Given the description of an element on the screen output the (x, y) to click on. 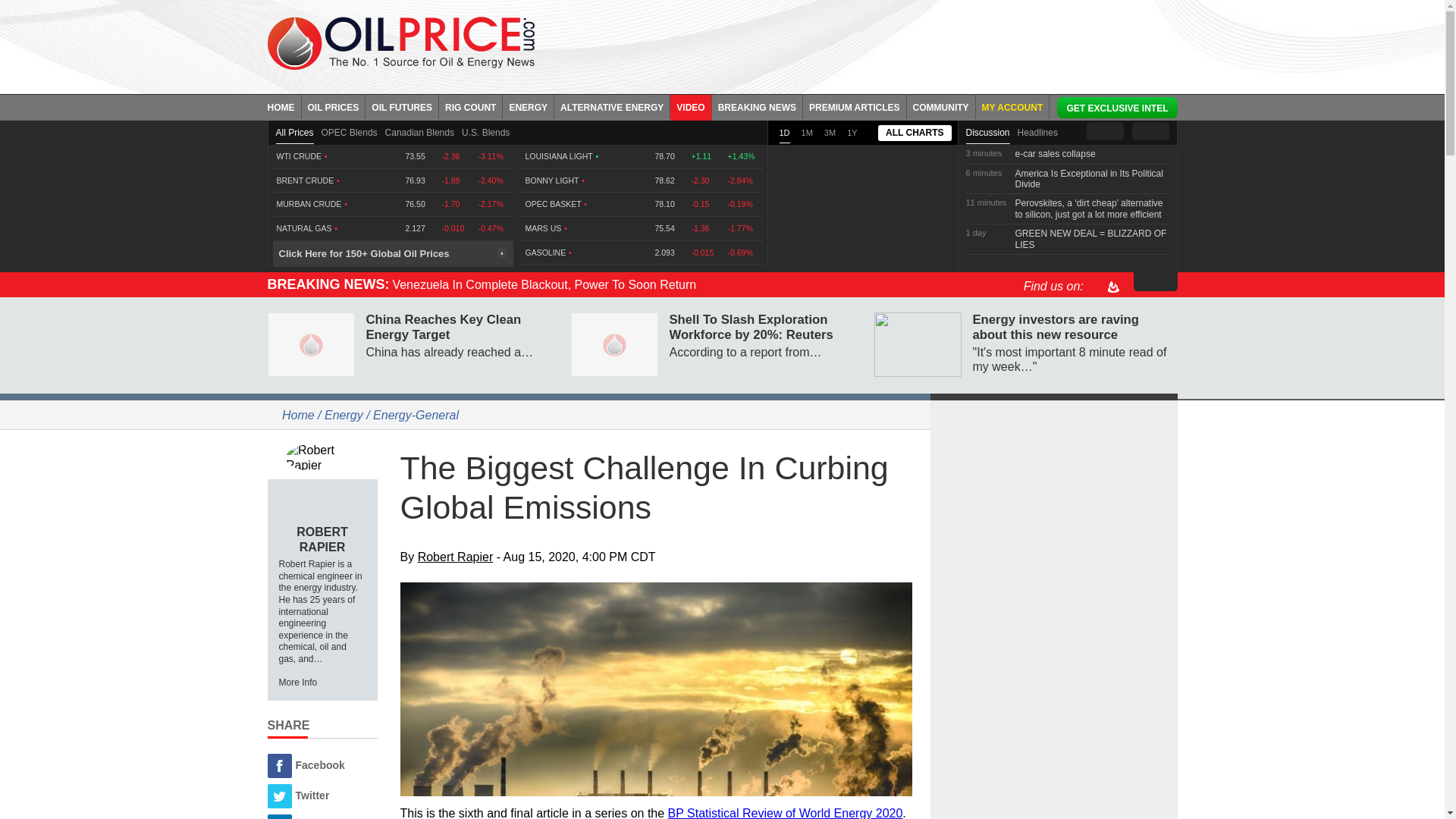
OIL FUTURES (402, 106)
RIG COUNT (470, 106)
PREMIUM ARTICLES (855, 106)
ENERGY (528, 106)
Refiners (656, 689)
Robert Rapier (321, 457)
ALTERNATIVE ENERGY (611, 106)
HOME (283, 106)
MY ACCOUNT (1012, 106)
VIDEO (690, 106)
